Given the description of an element on the screen output the (x, y) to click on. 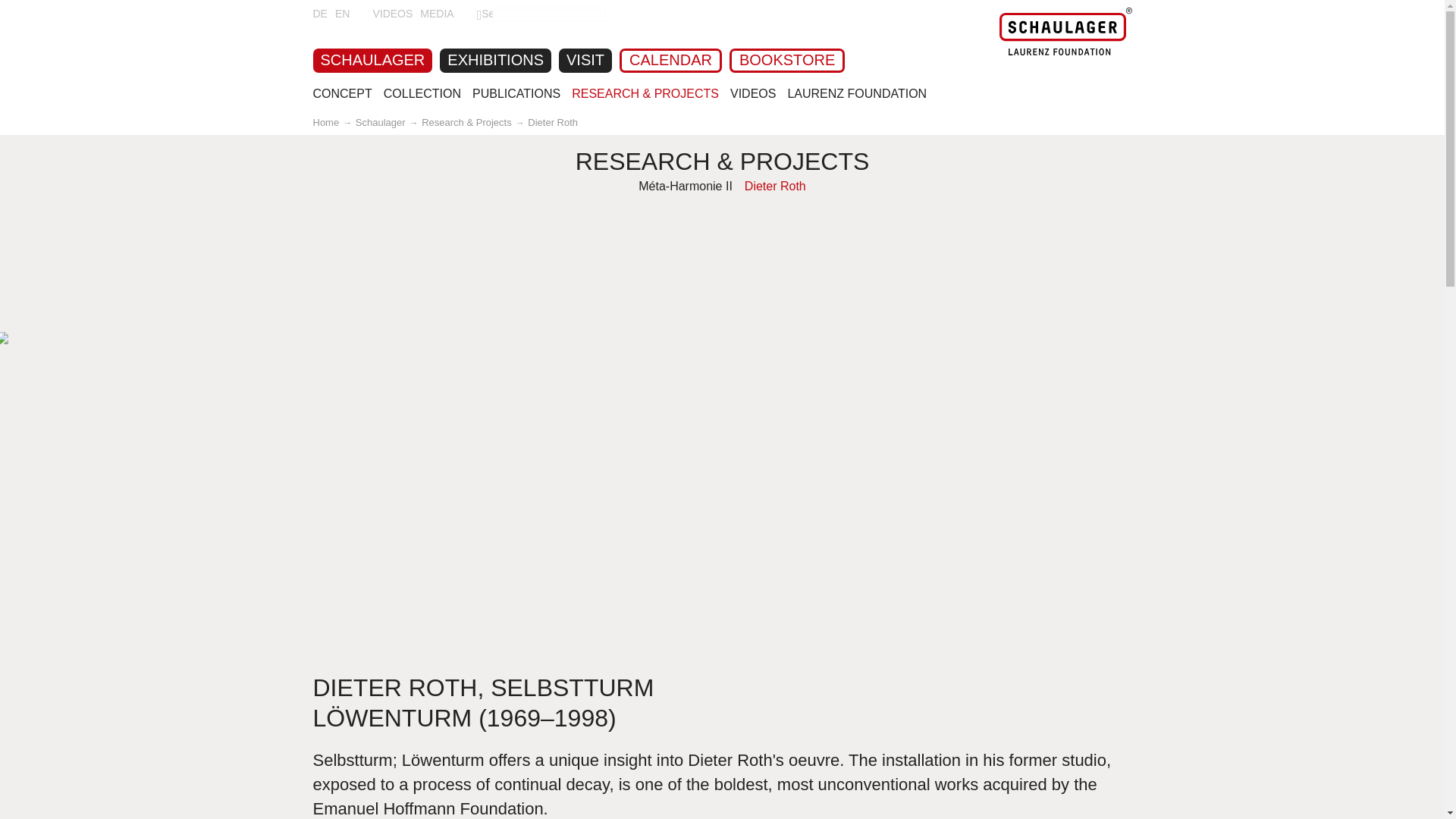
DE (319, 13)
EN (341, 13)
